Given the description of an element on the screen output the (x, y) to click on. 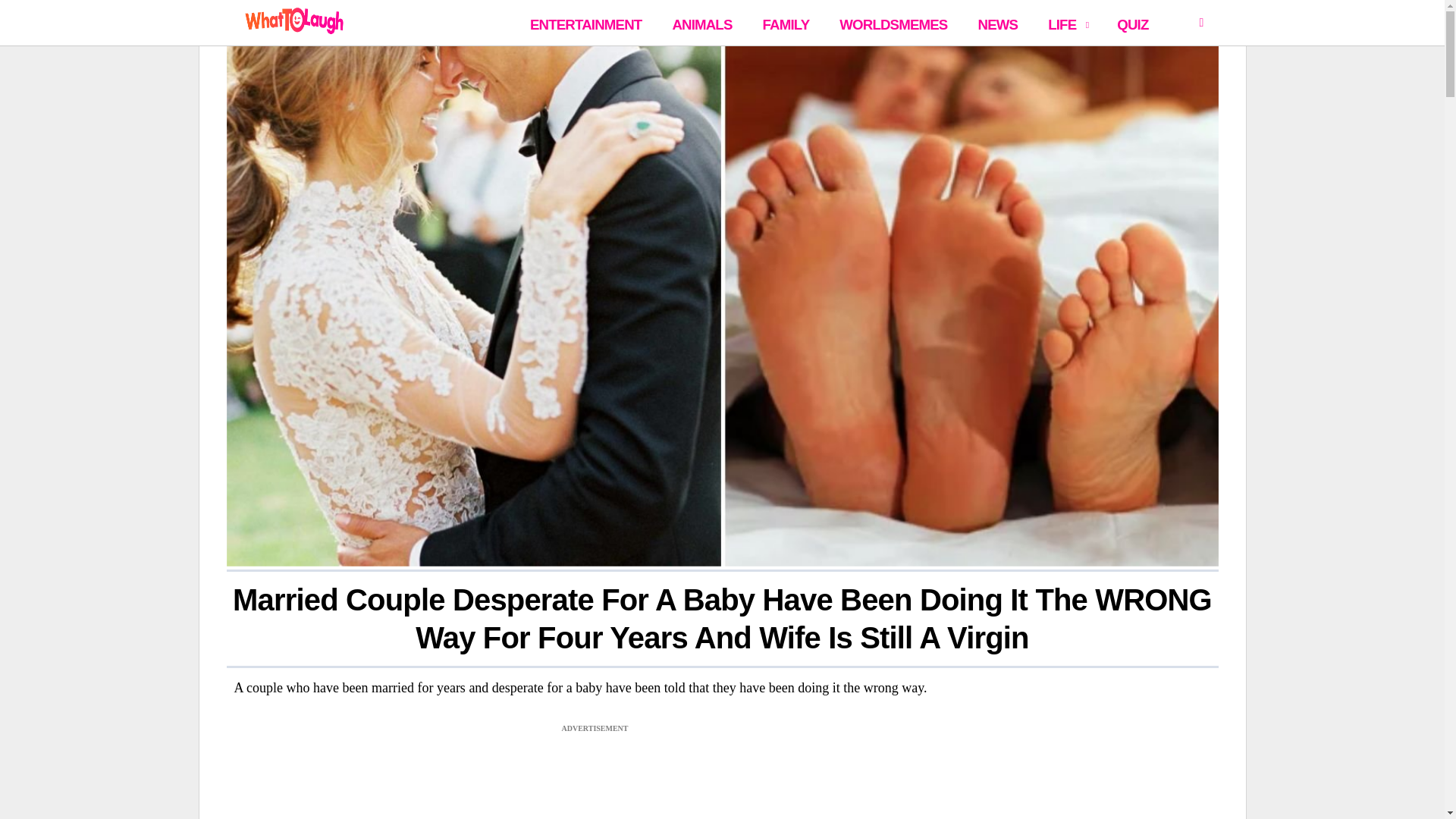
LIFE (1067, 22)
FAMILY (785, 22)
ENTERTAINMENT (585, 22)
WORLDSMEMES (893, 22)
ANIMALS (701, 22)
QUIZ (1132, 22)
NEWS (997, 22)
